Given the description of an element on the screen output the (x, y) to click on. 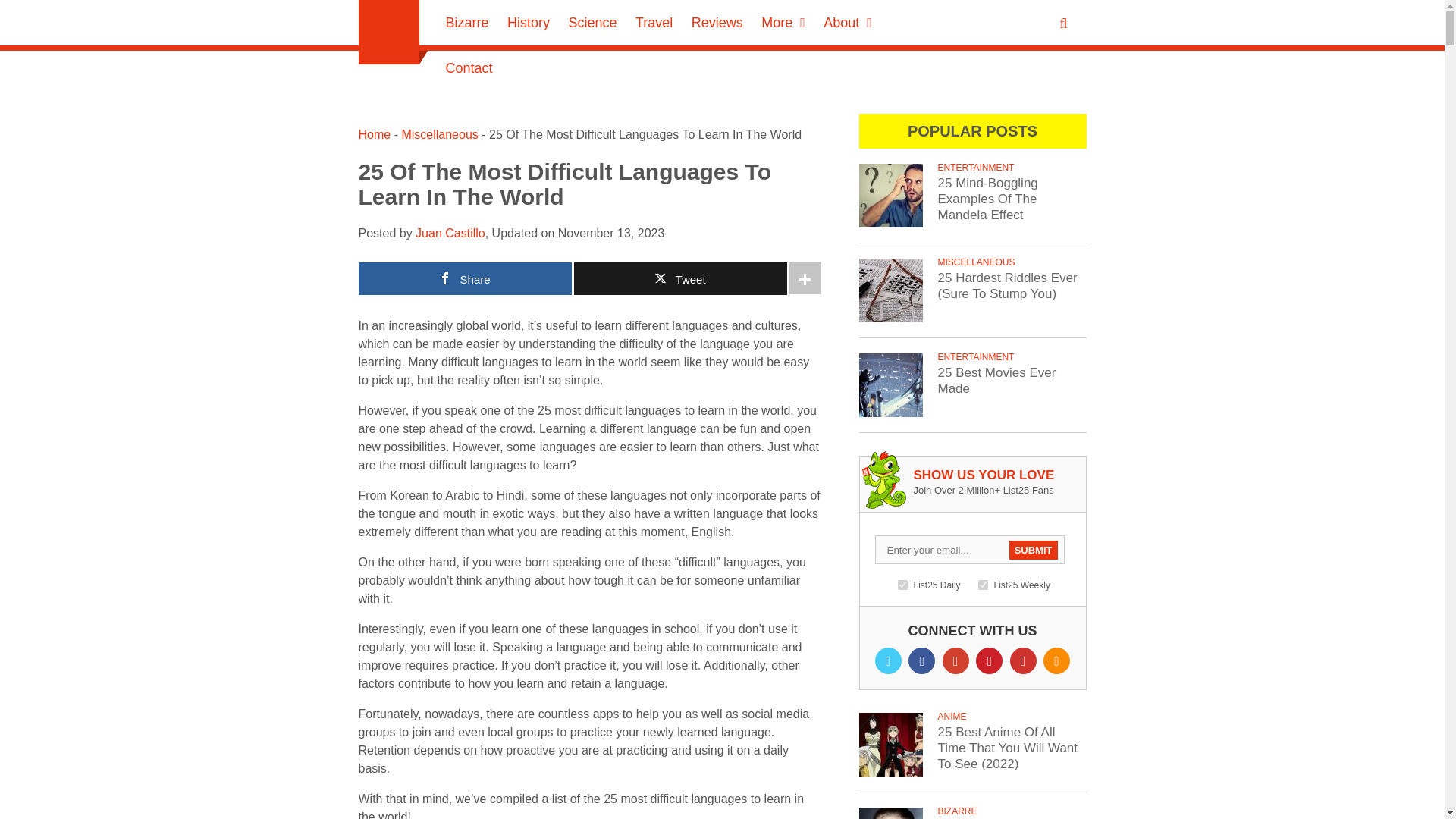
2 (983, 584)
History (528, 22)
Submit (1033, 549)
Share (464, 278)
List25 - Consistently Conciliating Curiosity (388, 32)
Bizarre (467, 22)
List25 - Better than Top 10 Lists (388, 32)
Submit (21, 7)
Juan Castillo (449, 232)
More (783, 22)
Posts by Juan Castillo (449, 232)
Miscellaneous (439, 133)
Tweet (679, 278)
Contact (469, 67)
Travel (653, 22)
